Given the description of an element on the screen output the (x, y) to click on. 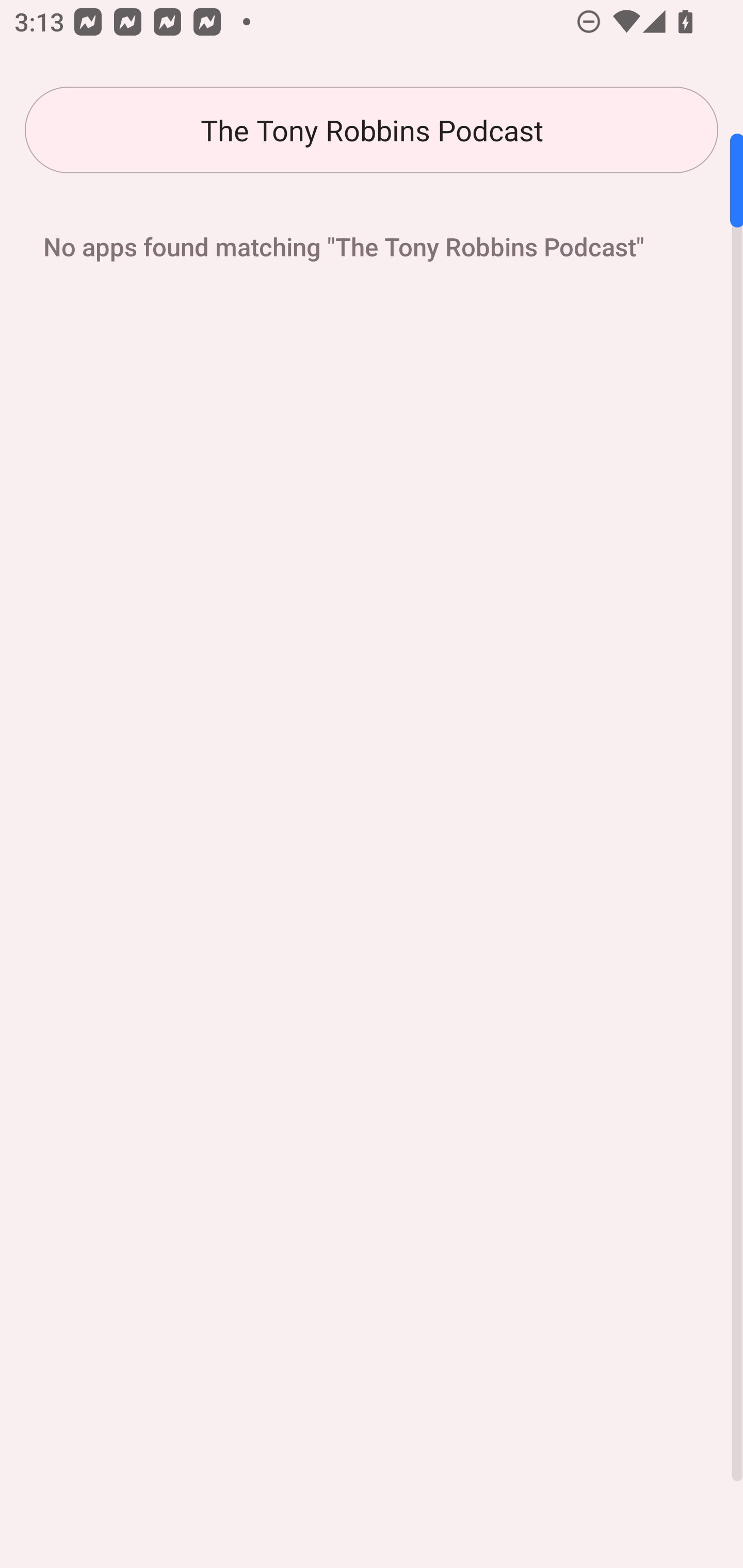
The Tony Robbins Podcast (371, 130)
